Given the description of an element on the screen output the (x, y) to click on. 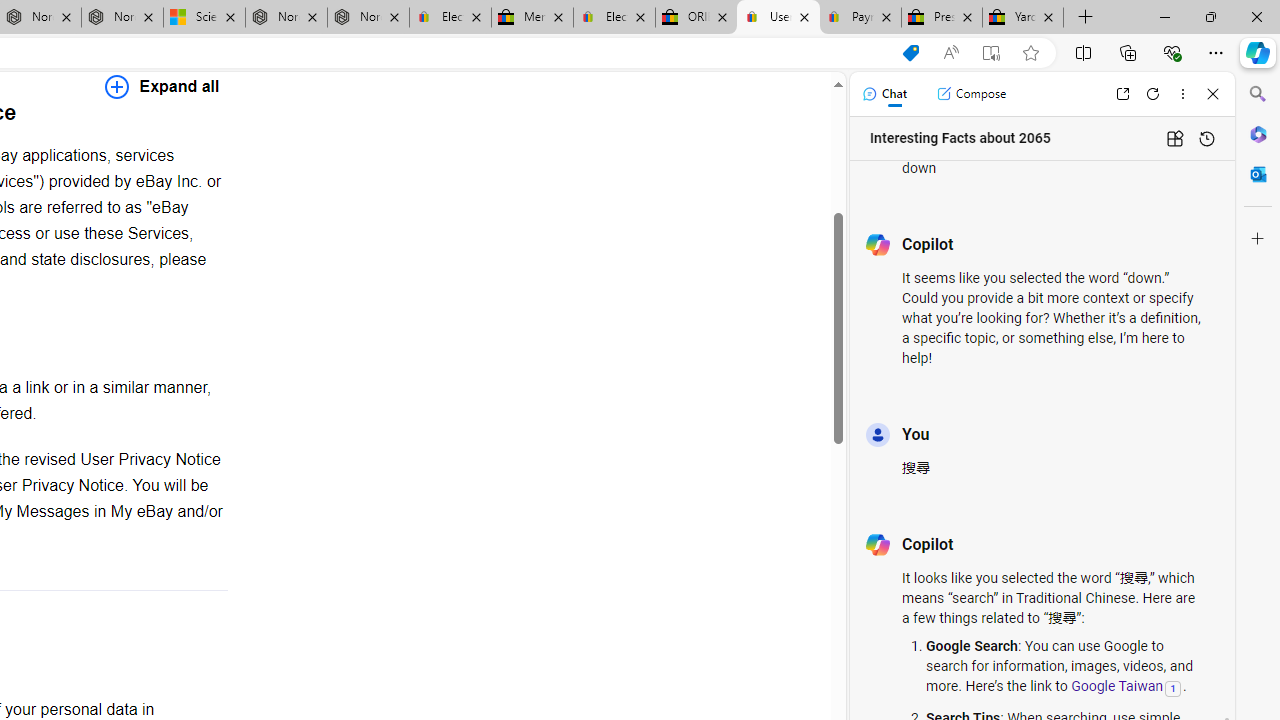
Chat (884, 93)
